Given the description of an element on the screen output the (x, y) to click on. 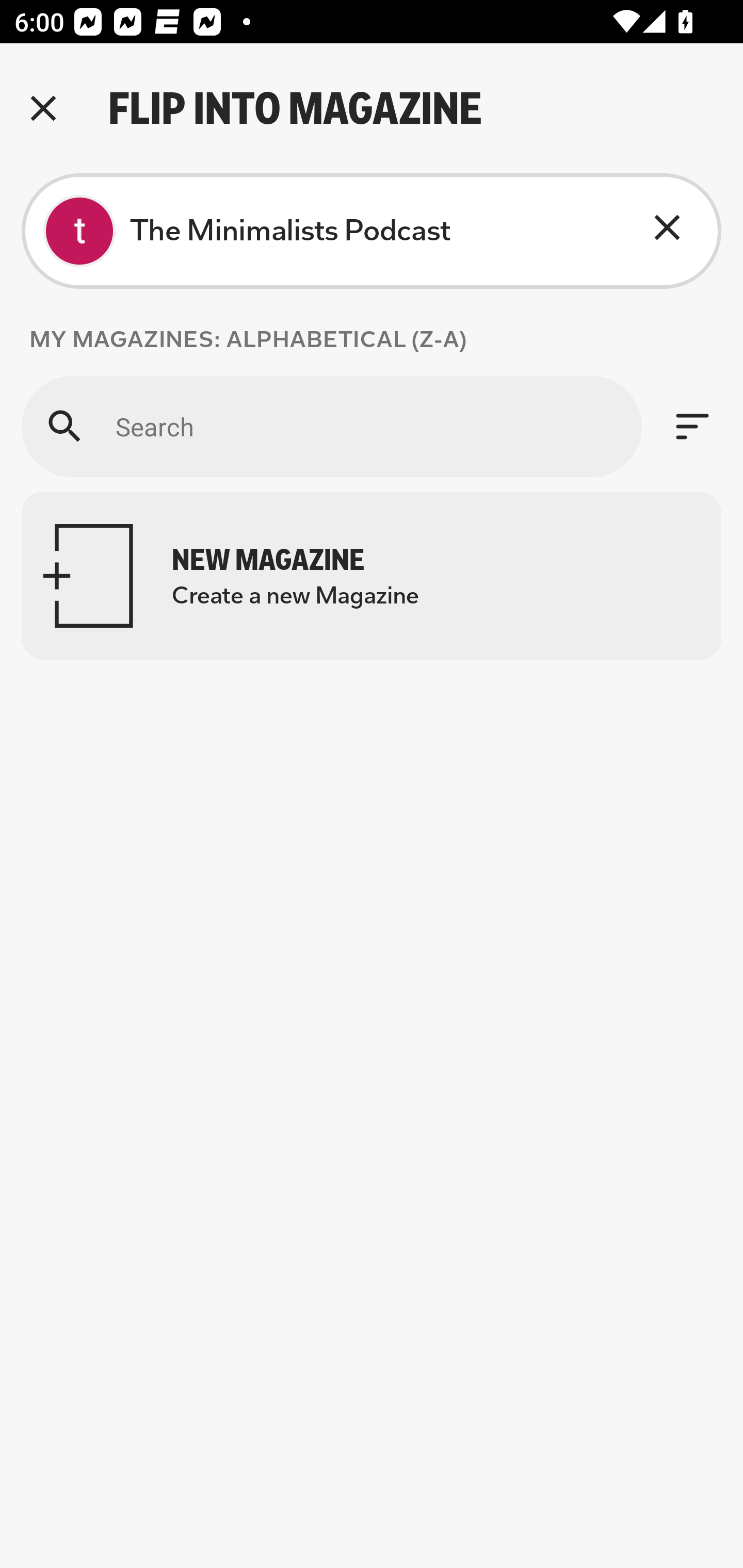
test appium The Minimalists Podcast
 (371, 231)
Search (331, 426)
NEW MAGAZINE Create a new Magazine (371, 575)
